Given the description of an element on the screen output the (x, y) to click on. 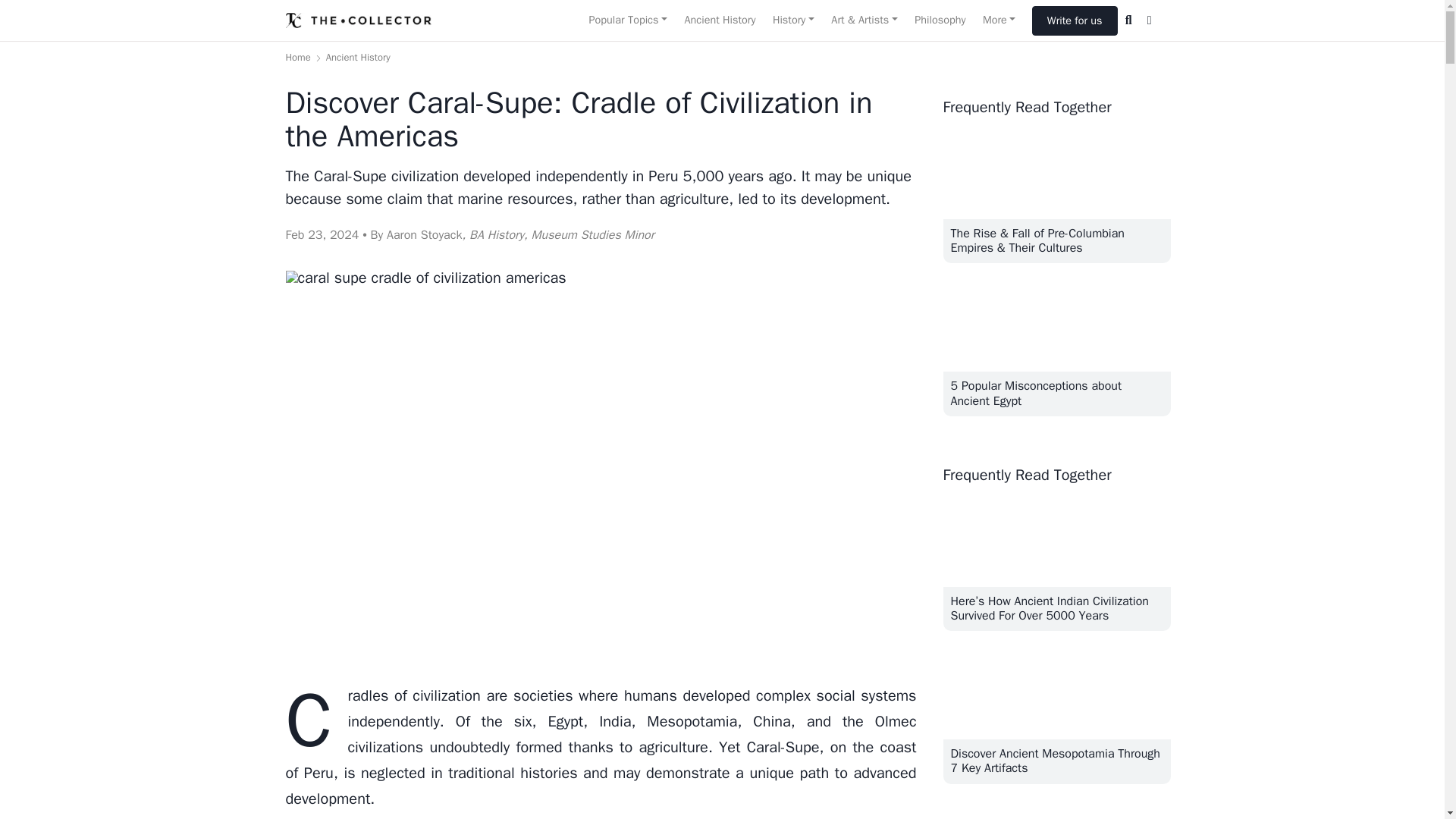
Ancient History (718, 20)
Write for us (1075, 20)
Philosophy (939, 20)
More (999, 20)
History (793, 20)
Popular Topics (627, 20)
